Given the description of an element on the screen output the (x, y) to click on. 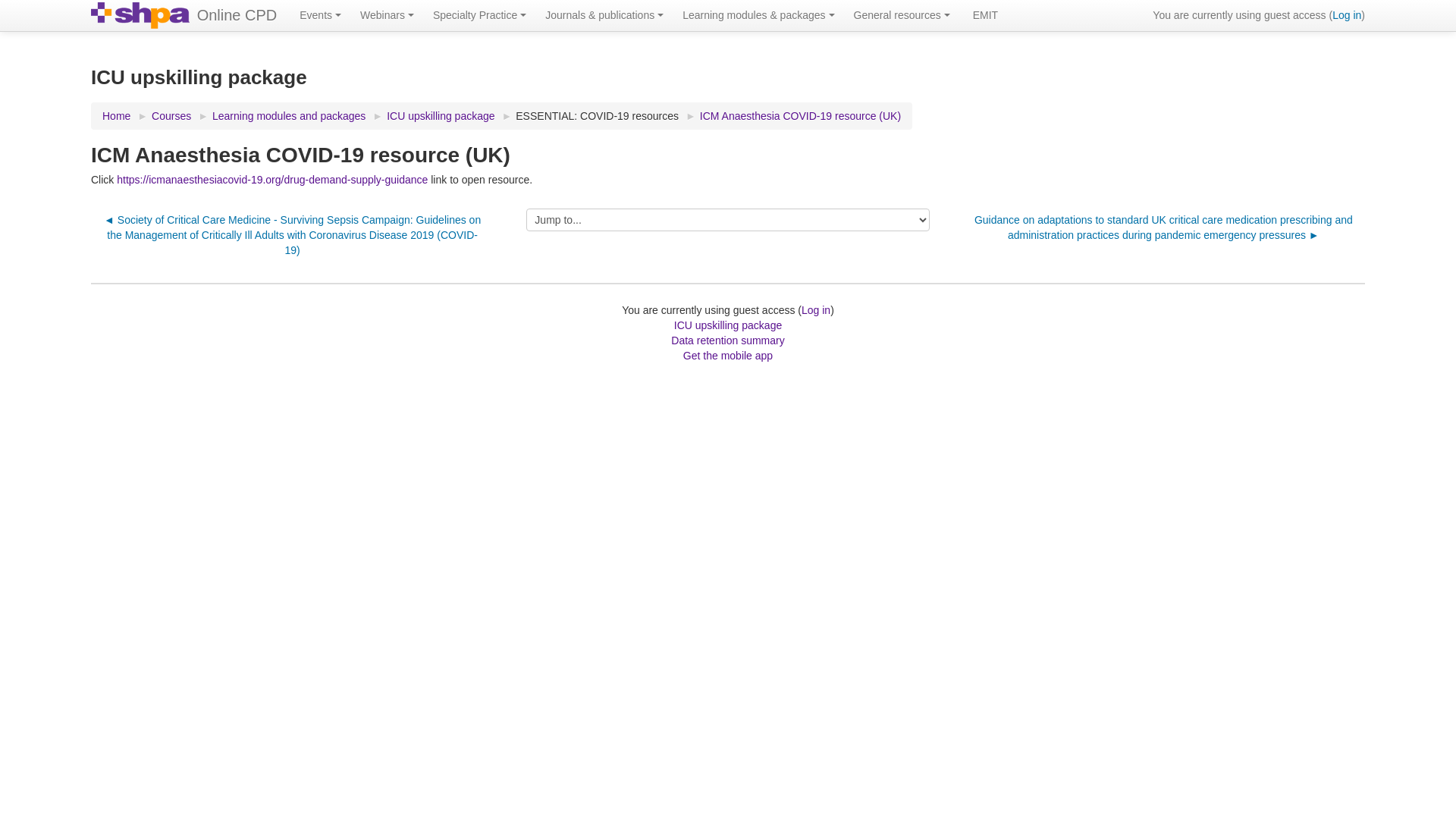
Journals & publications Element type: text (605, 15)
Online CPD Element type: text (237, 15)
Log in Element type: text (815, 310)
Home Element type: text (116, 115)
Events Element type: text (321, 15)
Data retention summary Element type: text (727, 340)
ICU upskilling package Element type: text (440, 115)
Specialty Practice Element type: text (481, 15)
ICU upskilling package Element type: text (727, 325)
Log in Element type: text (1346, 15)
Get the mobile app Element type: text (727, 355)
Webinars Element type: text (388, 15)
General resources Element type: text (903, 15)
ICM Anaesthesia COVID-19 resource (UK) Element type: text (799, 115)
Learning modules and packages Element type: text (288, 115)
Learning modules & packages Element type: text (759, 15)
EMIT Element type: text (985, 15)
Courses Element type: text (171, 115)
